Given the description of an element on the screen output the (x, y) to click on. 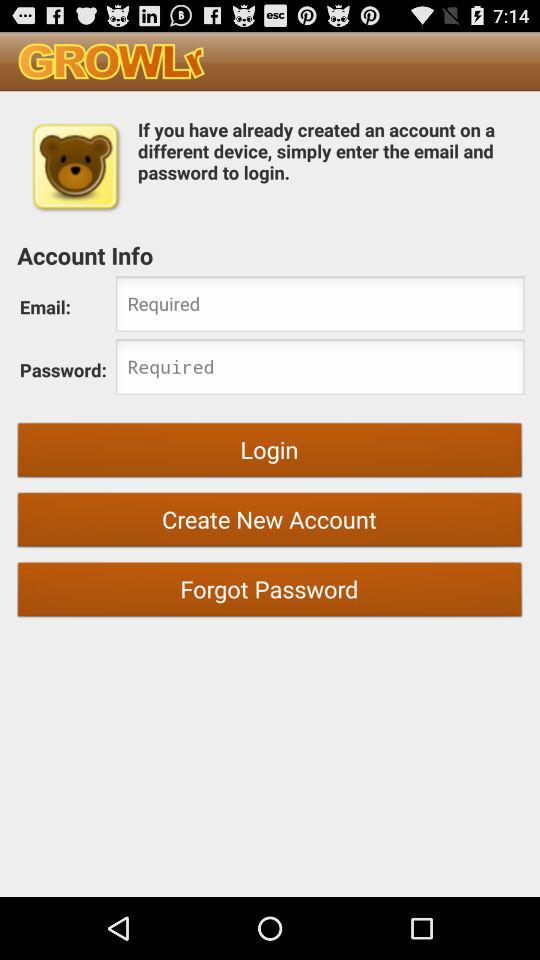
scroll until create new account (269, 521)
